Given the description of an element on the screen output the (x, y) to click on. 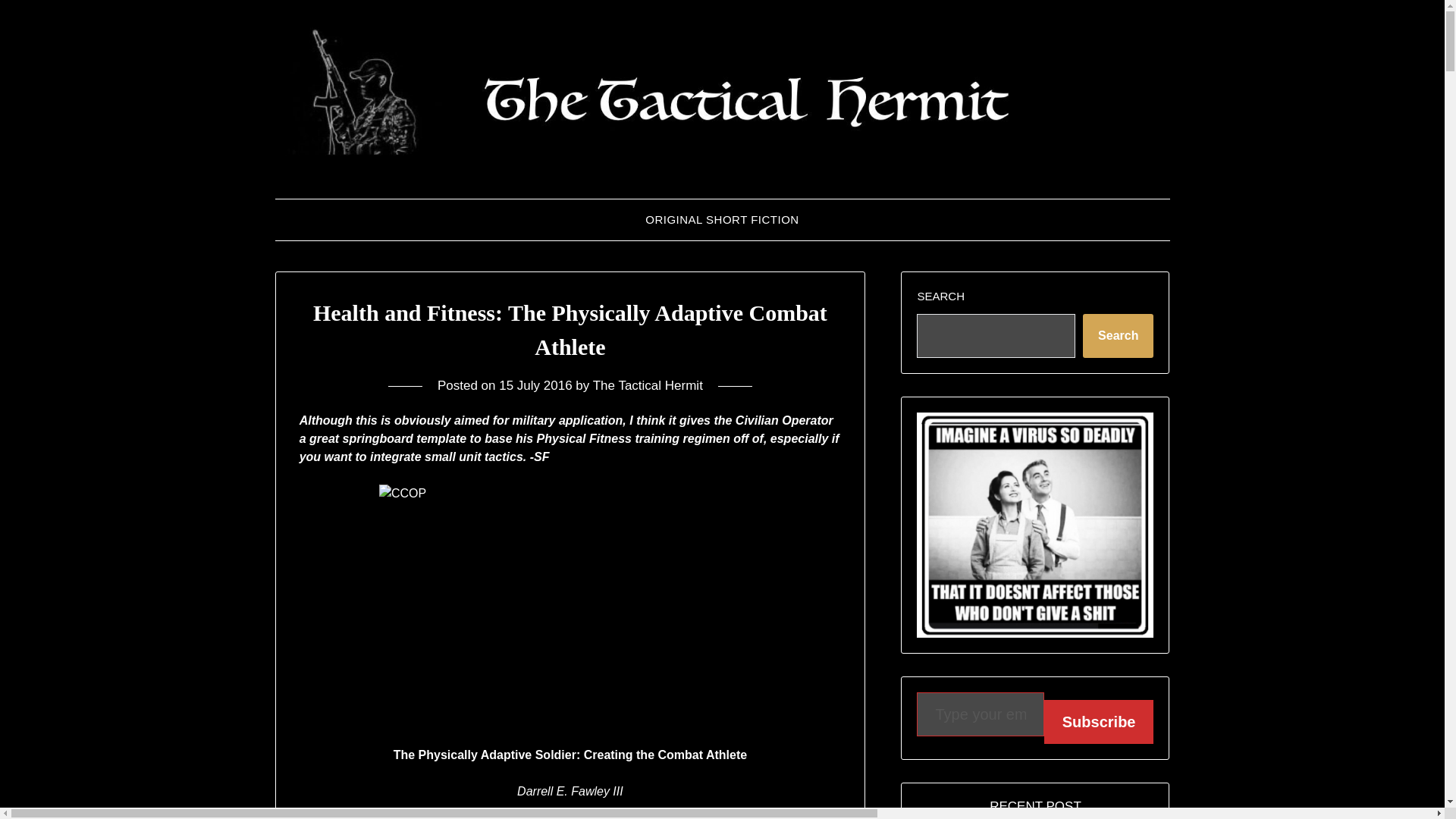
The Tactical Hermit (647, 385)
Search (1118, 335)
Subscribe (1098, 721)
15 July 2016 (535, 385)
ORIGINAL SHORT FICTION (721, 219)
